Given the description of an element on the screen output the (x, y) to click on. 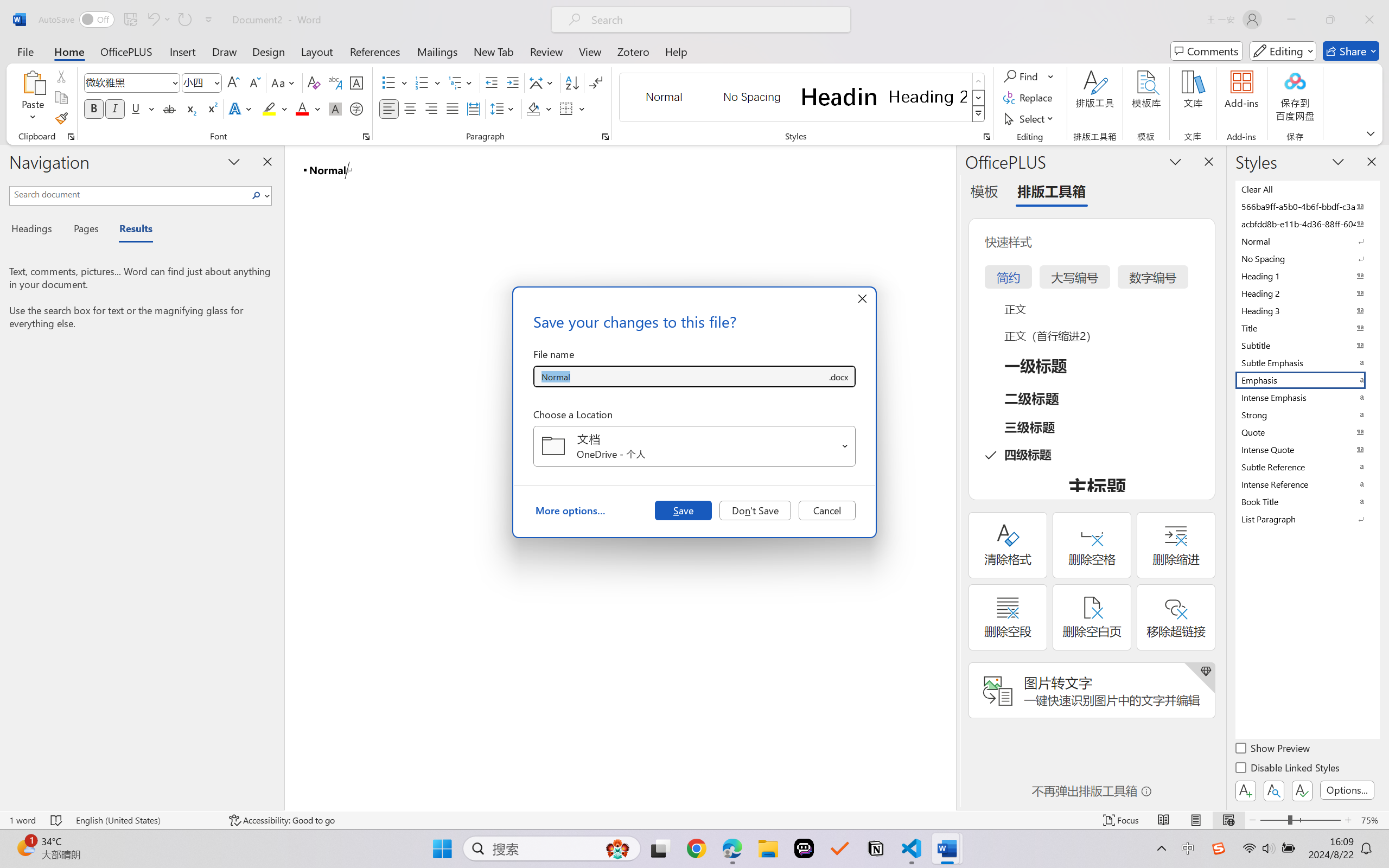
Search document (128, 193)
Mailings (437, 51)
Clear All (1306, 188)
Draw (224, 51)
Design (268, 51)
Read Mode (1163, 819)
Close (1369, 19)
Subtitle (1306, 345)
Results (130, 229)
Print Layout (1196, 819)
Undo Style (158, 19)
Pages (85, 229)
